Given the description of an element on the screen output the (x, y) to click on. 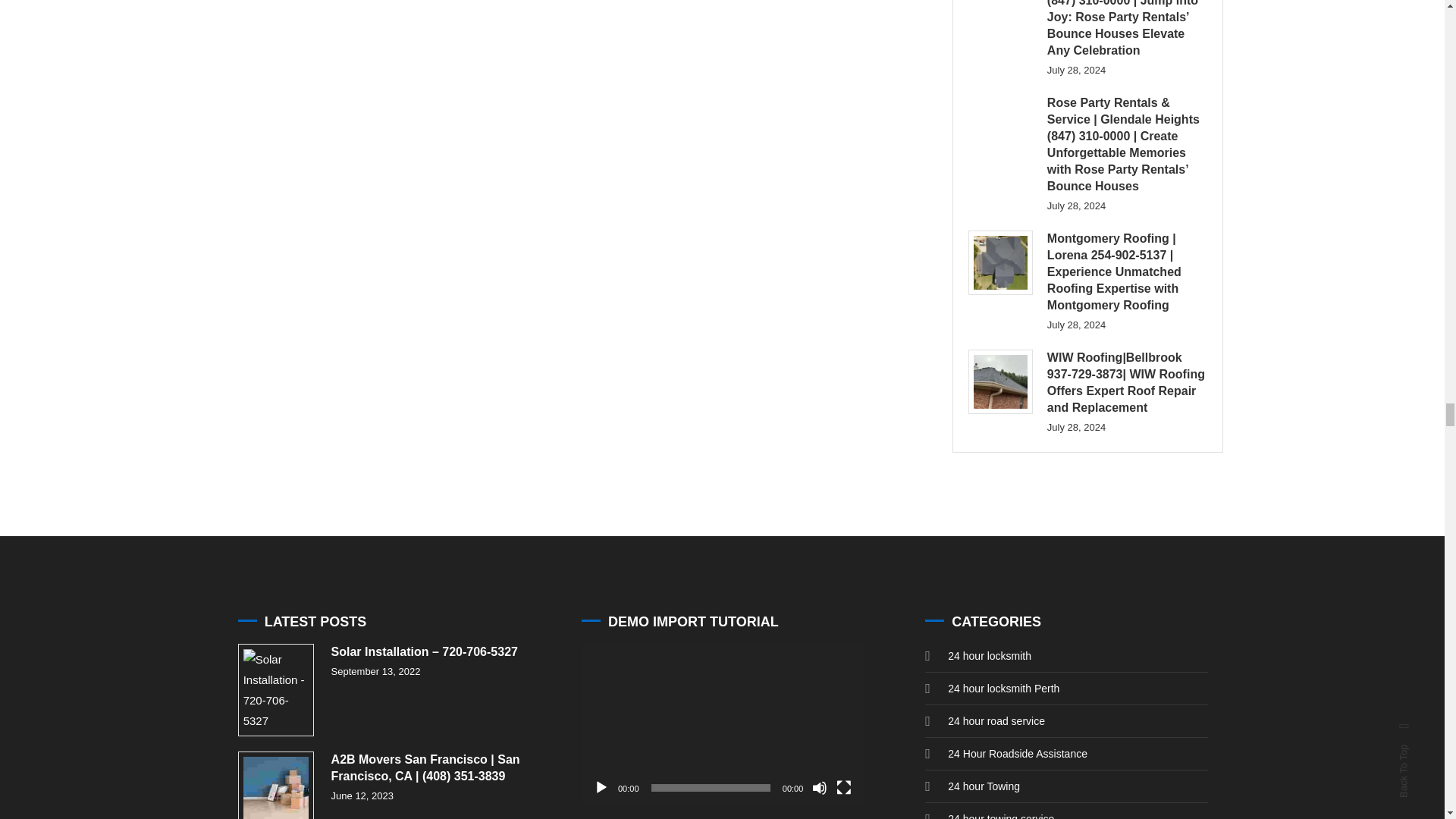
Fullscreen (843, 787)
Play (601, 787)
Mute (819, 787)
